Given the description of an element on the screen output the (x, y) to click on. 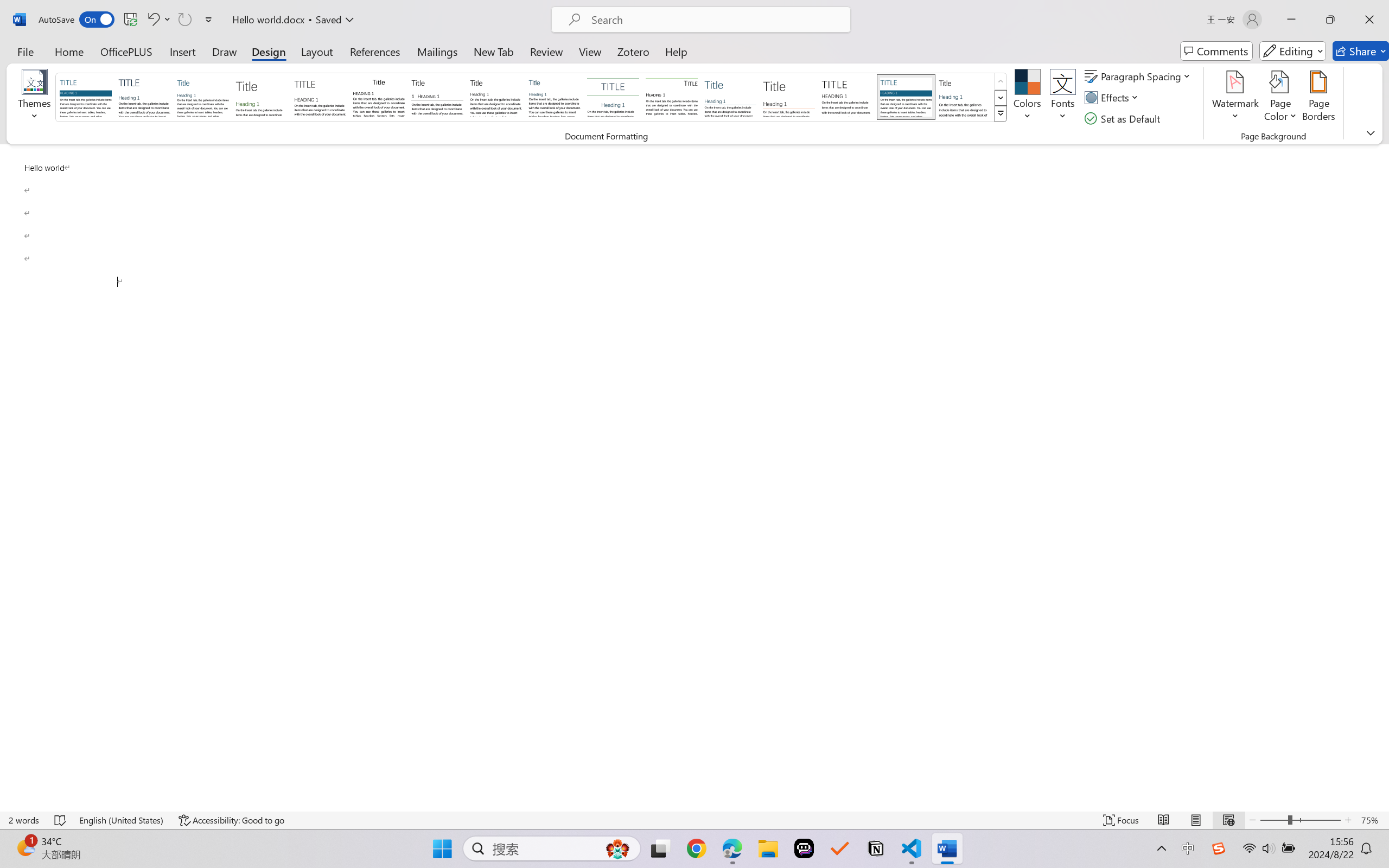
Paragraph Spacing (1139, 75)
Colors (1027, 97)
Word (964, 96)
AutomationID: BadgeAnchorLargeTicker (24, 847)
Lines (Distinctive) (671, 96)
Fonts (1062, 97)
Draw (224, 51)
AutomationID: QuickStylesSets (531, 97)
Style Set (1000, 113)
Save (130, 19)
Language English (United States) (121, 819)
Word Count 2 words (23, 819)
Zoom 75% (1372, 819)
Zoom Out (1273, 819)
